Given the description of an element on the screen output the (x, y) to click on. 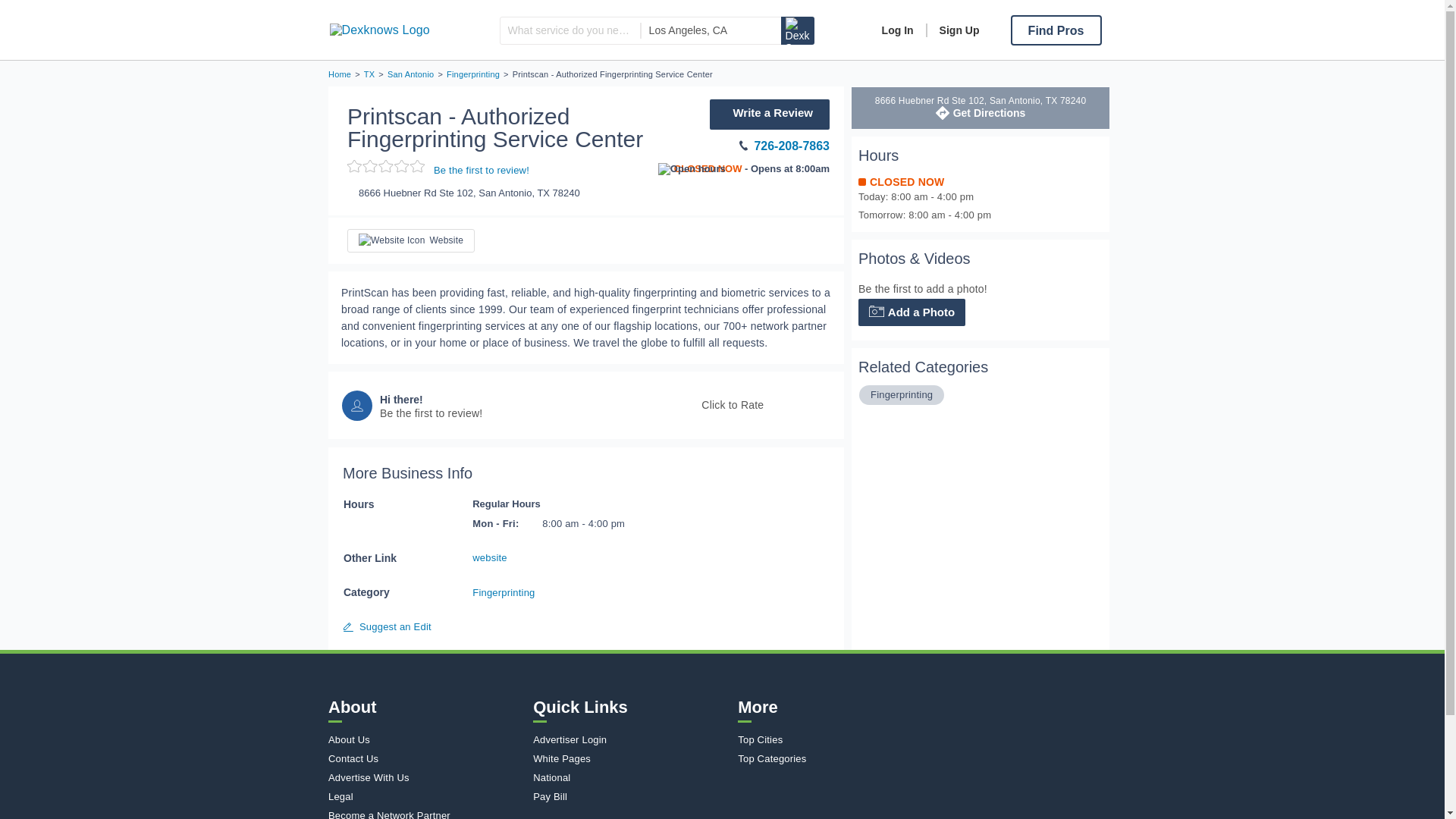
Become a Network Partner (427, 814)
Fingerprinting (901, 394)
Log In (898, 30)
About Us (427, 739)
Pay Bill (631, 796)
National (631, 777)
Top Categories (836, 758)
Website (410, 240)
Find Pros (1055, 30)
Add a Photo (912, 311)
